Given the description of an element on the screen output the (x, y) to click on. 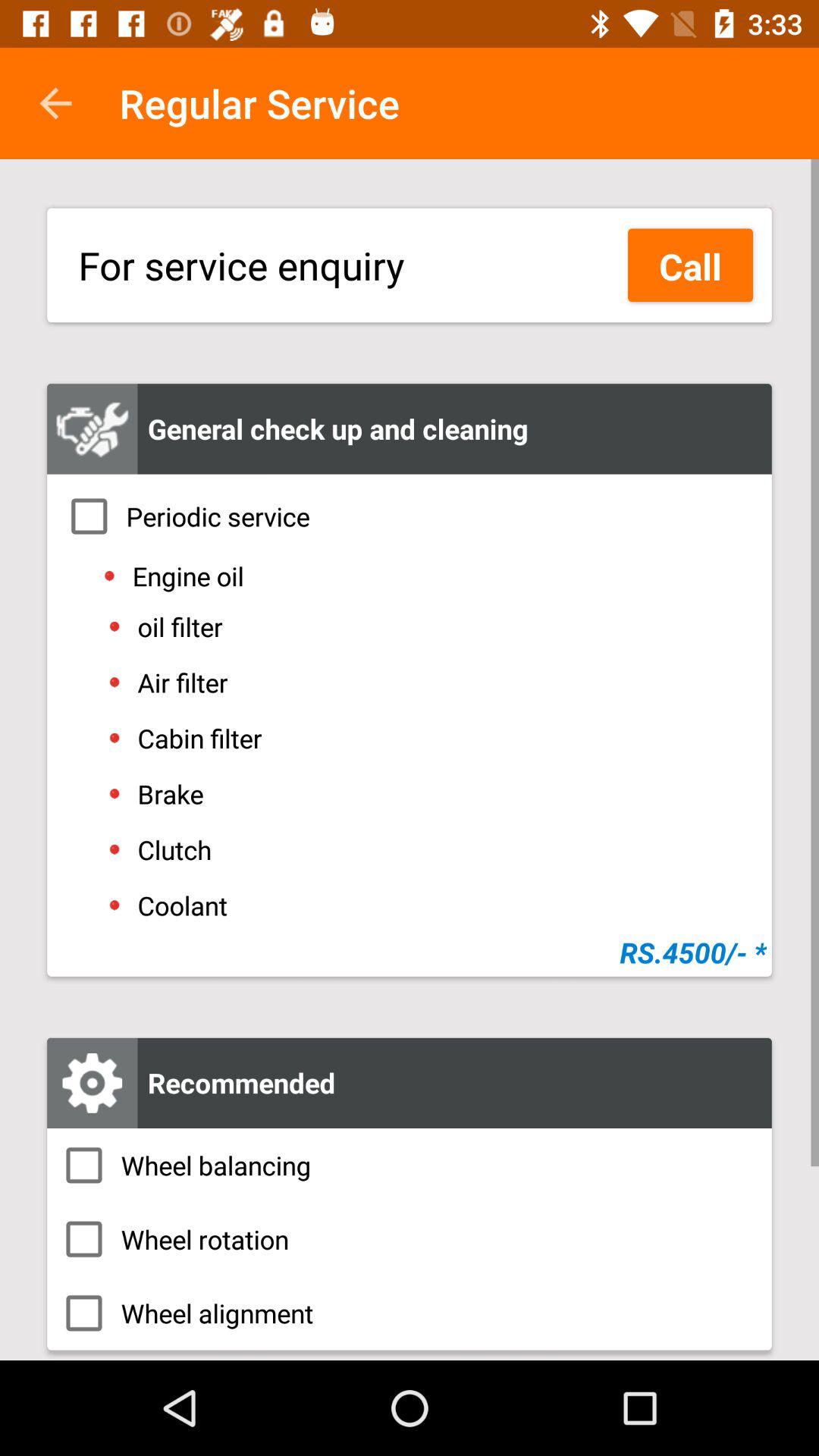
turn off item above general check up item (690, 265)
